Given the description of an element on the screen output the (x, y) to click on. 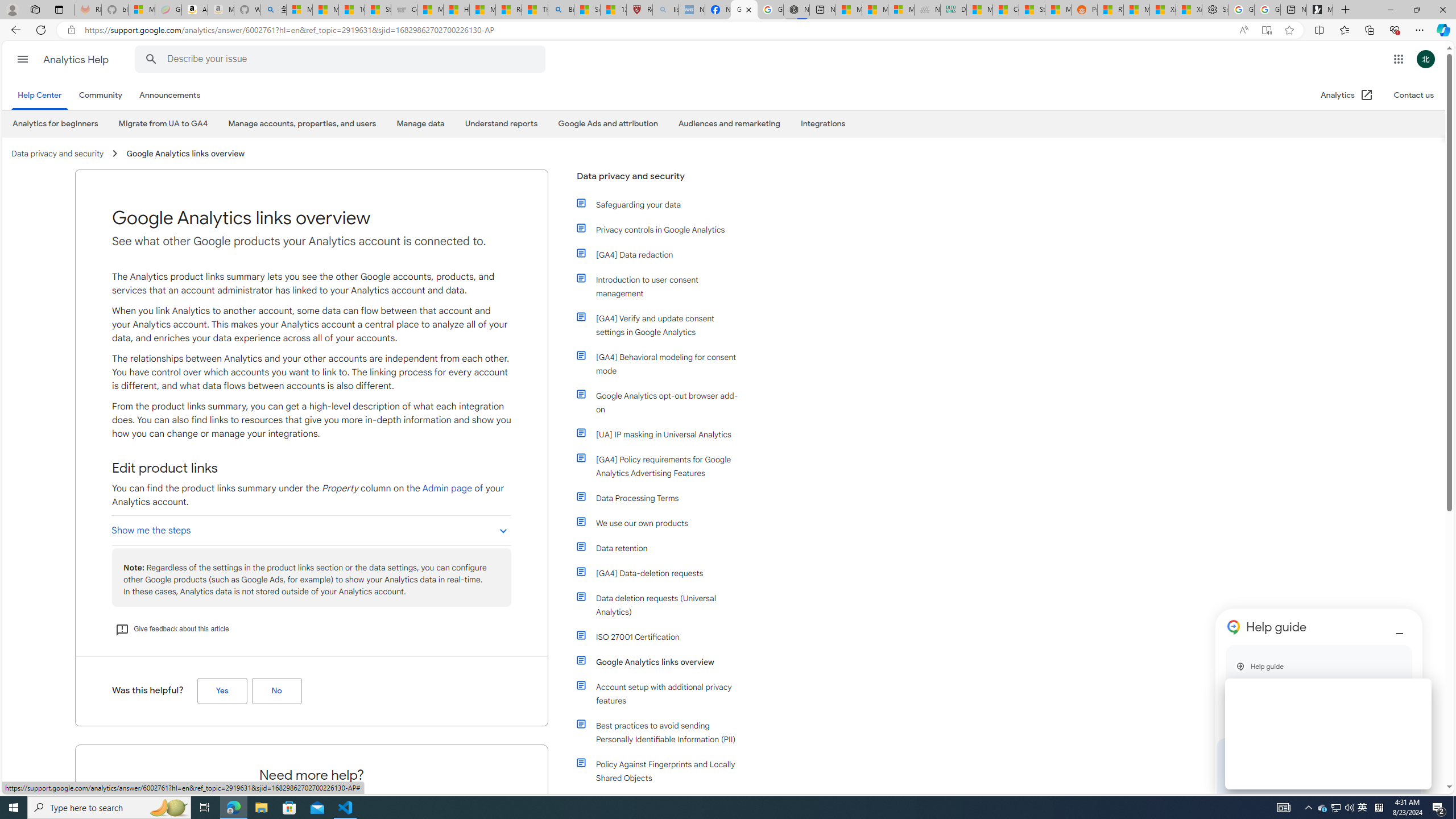
Google Analytics links overview - Analytics Help (743, 9)
Announcements (169, 94)
We use our own products (658, 523)
Manage data (420, 123)
Community (102, 95)
[GA4] Data-deletion requests (664, 573)
Audiences and remarketing (729, 123)
Robert H. Shmerling, MD - Harvard Health (639, 9)
Stocks - MSN (1031, 9)
Google apps (1398, 58)
No (Was this helpful?) (276, 691)
Class: gb_E (1398, 59)
